Given the description of an element on the screen output the (x, y) to click on. 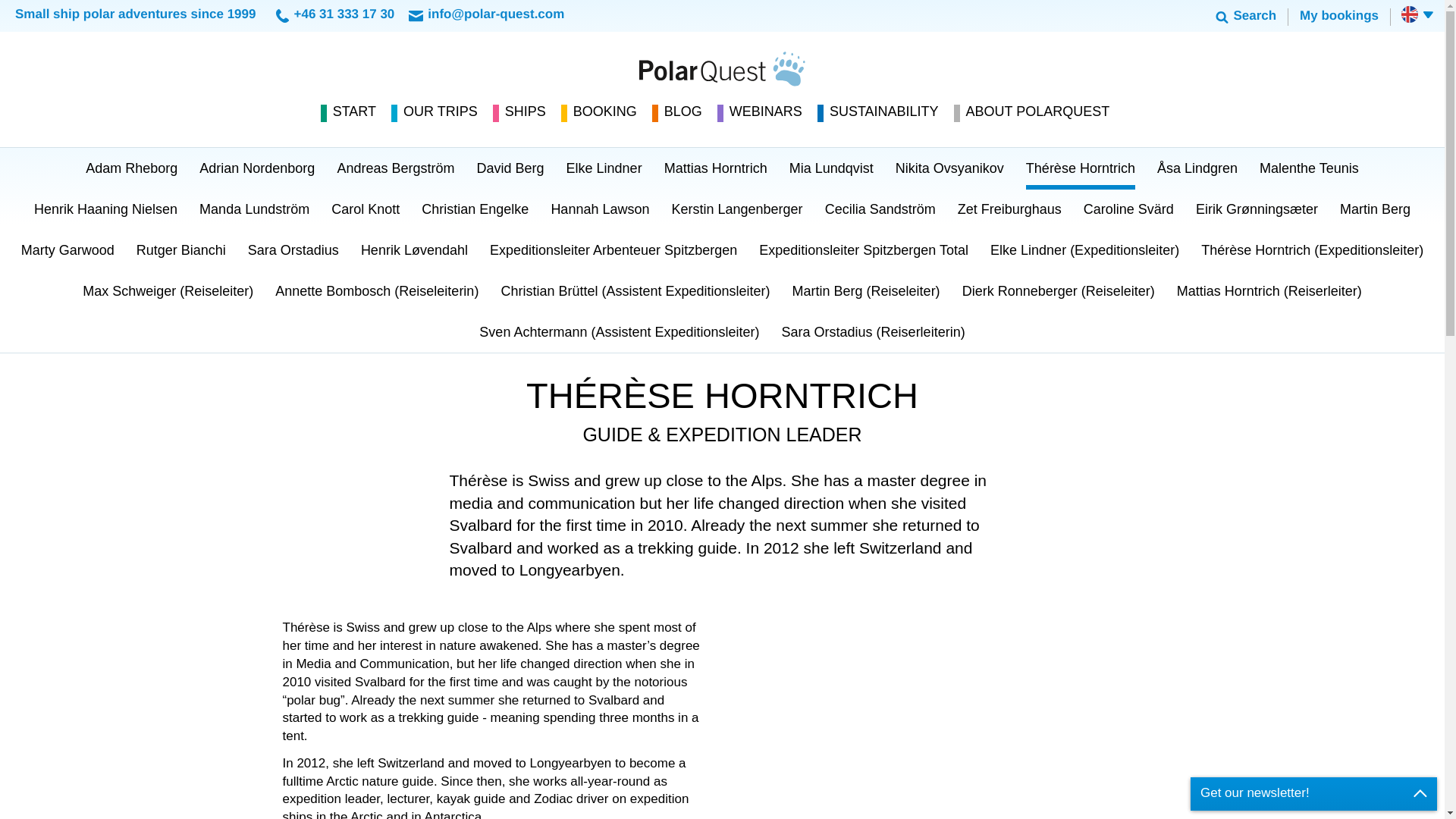
Mia Lundqvist (831, 168)
Hannah Lawson (599, 209)
WEBINARS (766, 112)
Malenthe Teunis (1309, 168)
Mattias Horntrich (715, 168)
Adam Rheborg (131, 168)
Rutger Bianchi (181, 250)
Kerstin Langenberger (737, 209)
Martin Berg (1374, 209)
Christian Engelke (474, 209)
